Given the description of an element on the screen output the (x, y) to click on. 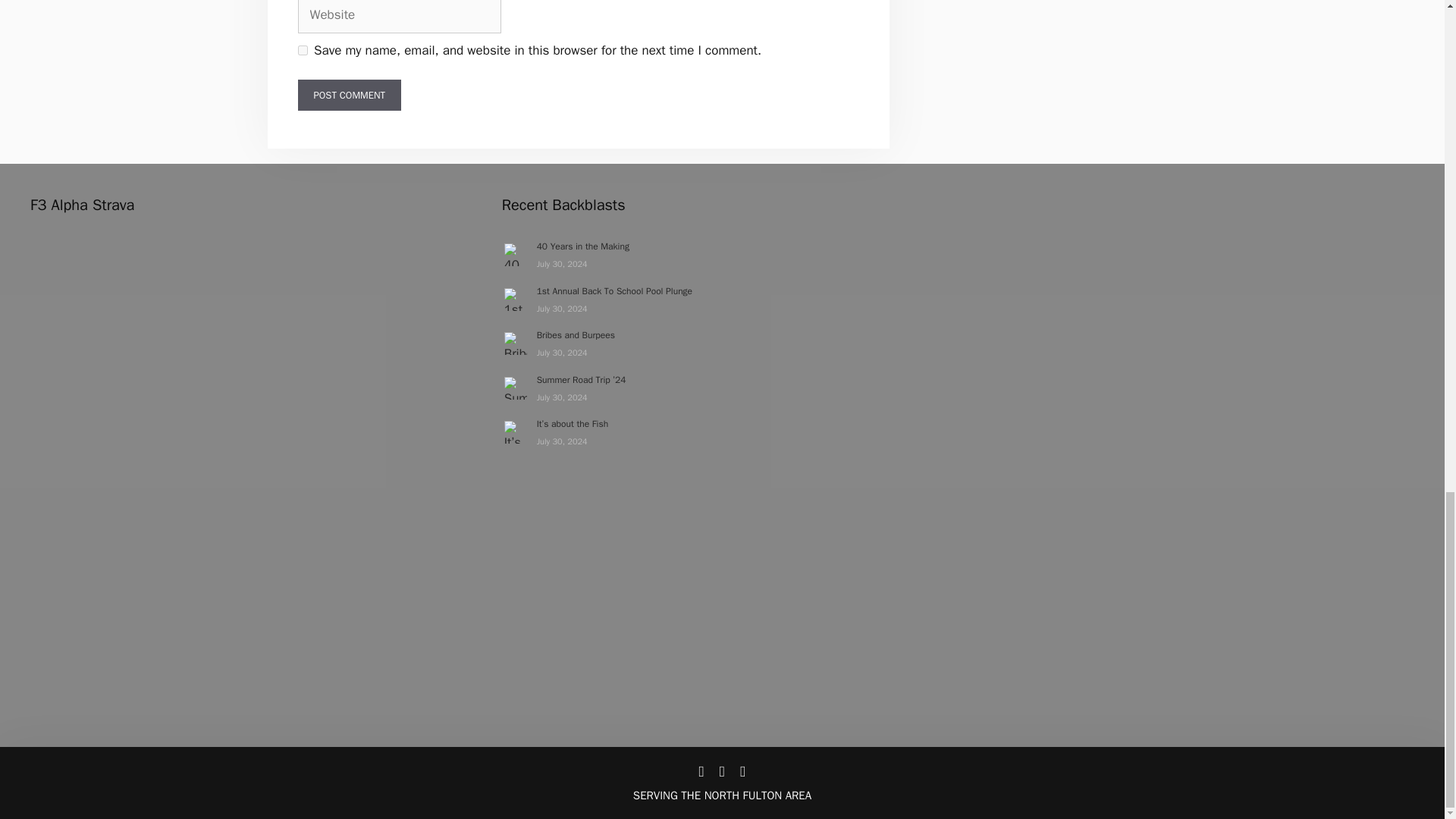
Post Comment (349, 95)
yes (302, 50)
Post Comment (349, 95)
